Given the description of an element on the screen output the (x, y) to click on. 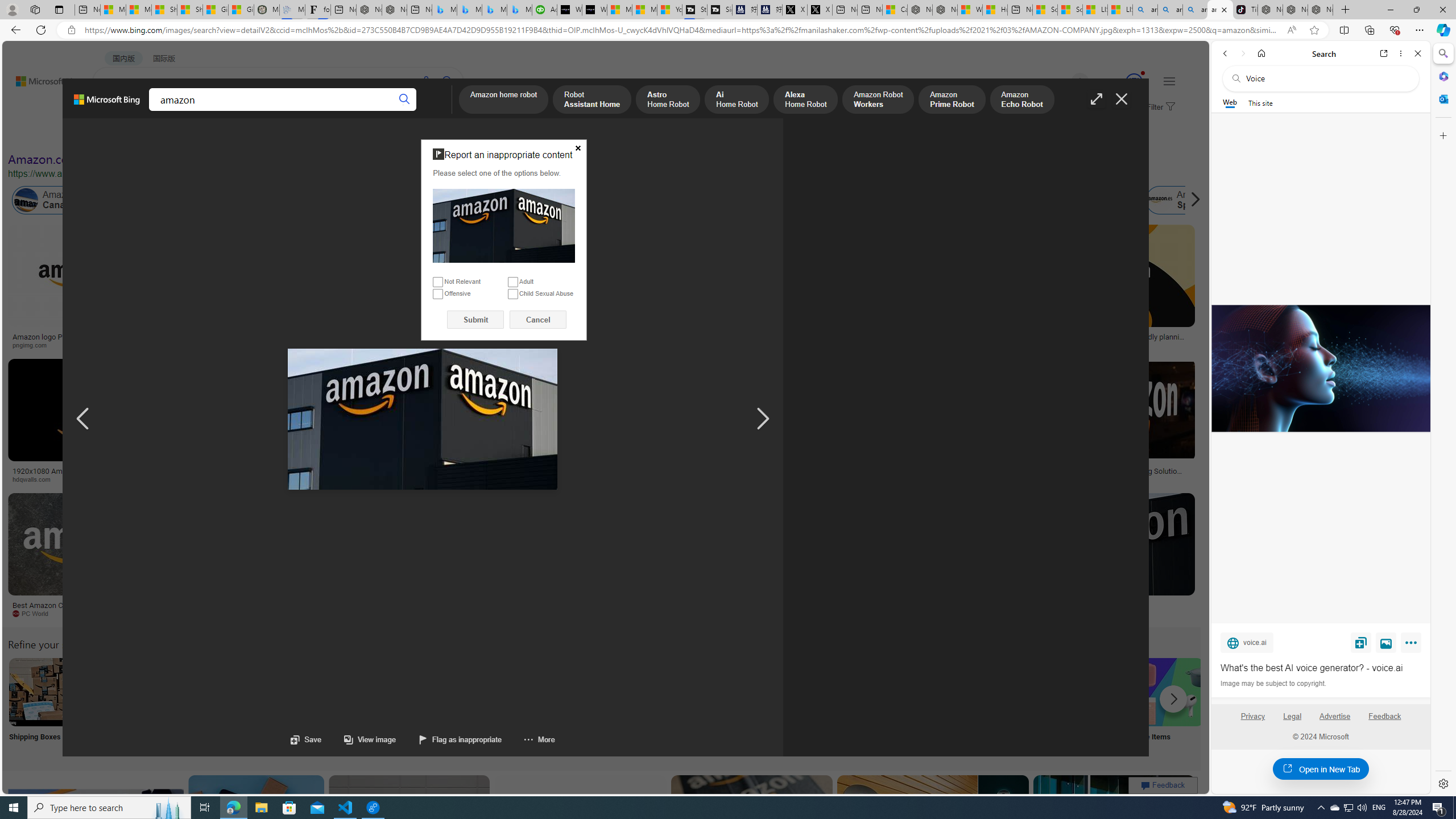
MAPS (397, 111)
Amazon Wish List Wish List (568, 706)
People (295, 135)
AutomationID: navr (762, 418)
Amazon India (508, 199)
Amazon Shoes (1103, 199)
Flag as inappropriate (460, 739)
usatoday.com (334, 344)
Amazon Jobs Near Me (342, 691)
People (295, 135)
Wildlife - MSN (969, 9)
